Given the description of an element on the screen output the (x, y) to click on. 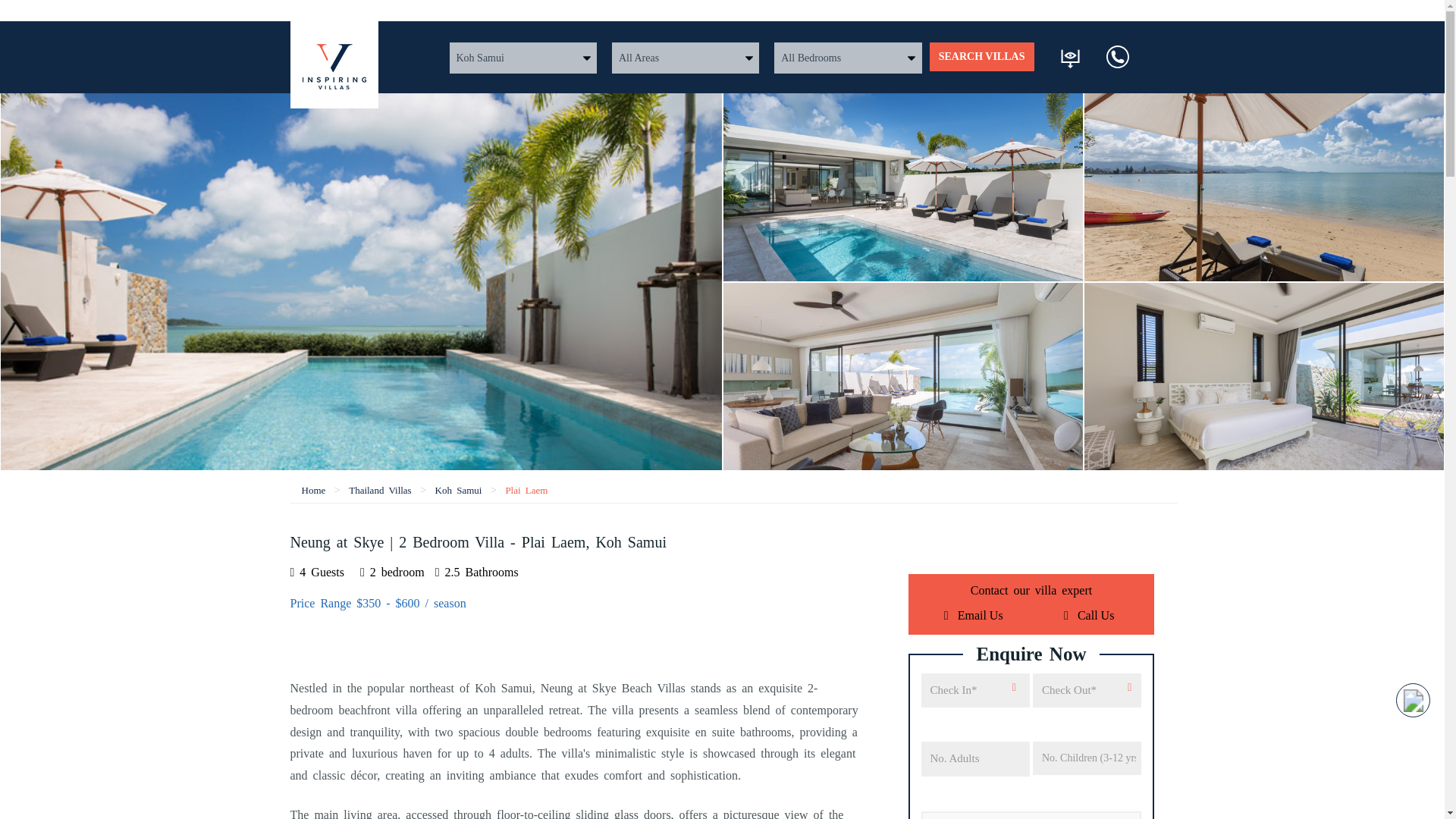
SEARCH VILLAS (981, 56)
Plai Laem, Thailand (526, 490)
Thailand Villas (380, 490)
Plai Laem (526, 490)
Koh Samui (458, 490)
Home (313, 490)
Thailand Villas (380, 490)
Koh Samui (458, 490)
Home (313, 490)
